Given the description of an element on the screen output the (x, y) to click on. 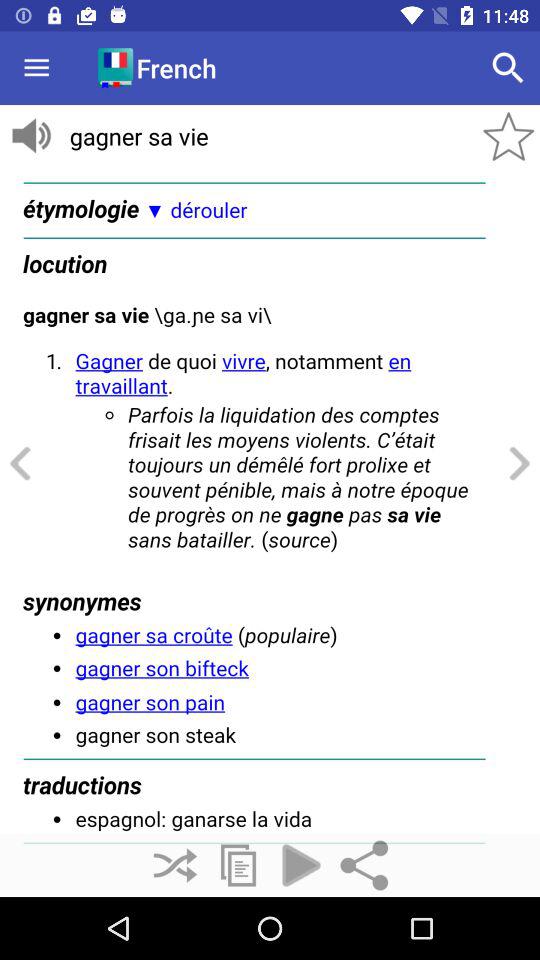
read full para (270, 501)
